Given the description of an element on the screen output the (x, y) to click on. 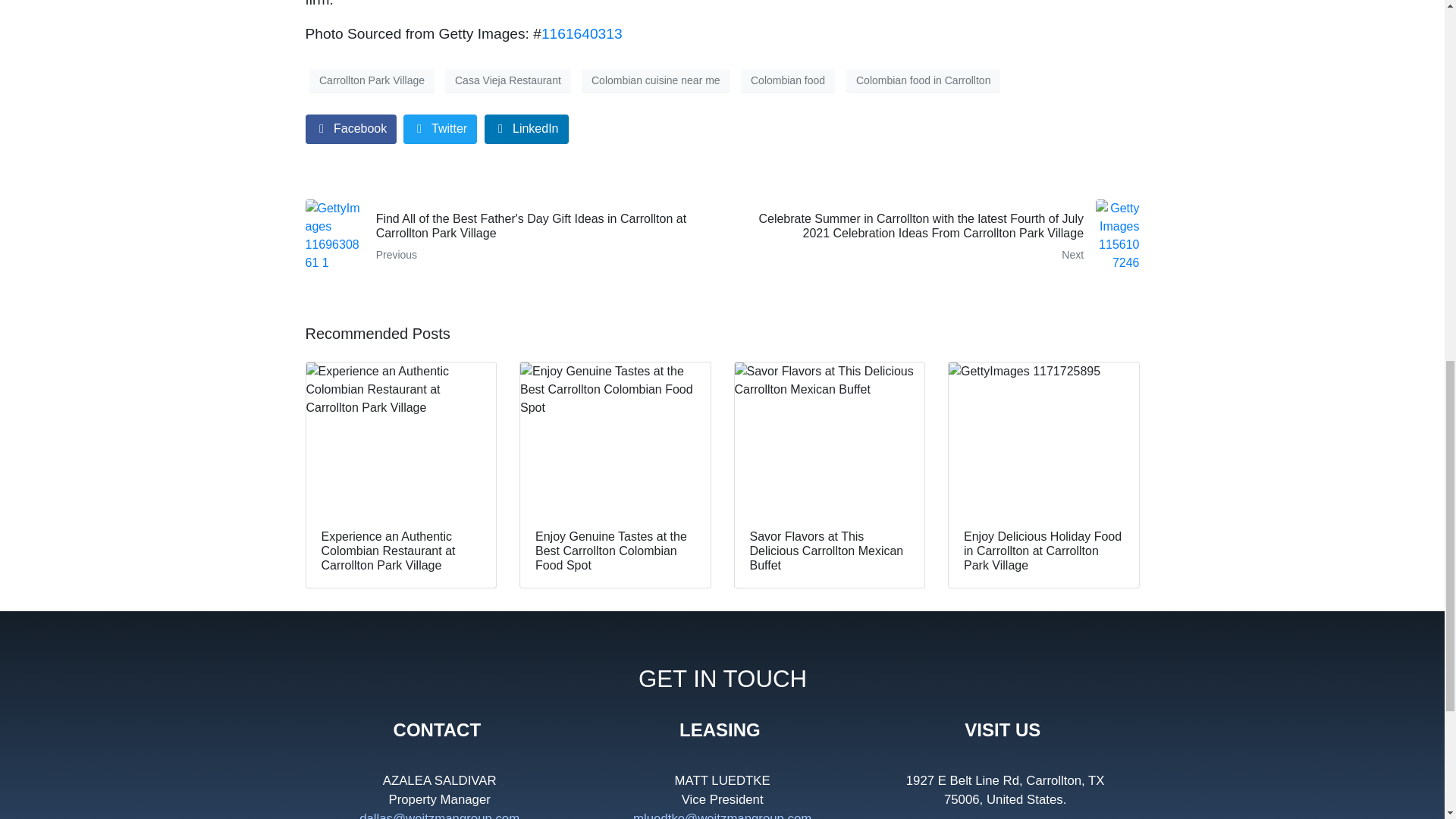
Twitter (440, 129)
Colombian food (787, 79)
1161640313 (582, 33)
Casa Vieja Restaurant (507, 79)
Colombian food in Carrollton (922, 79)
Savor Flavors at This Delicious Carrollton Mexican Buffet 5 (828, 438)
